Given the description of an element on the screen output the (x, y) to click on. 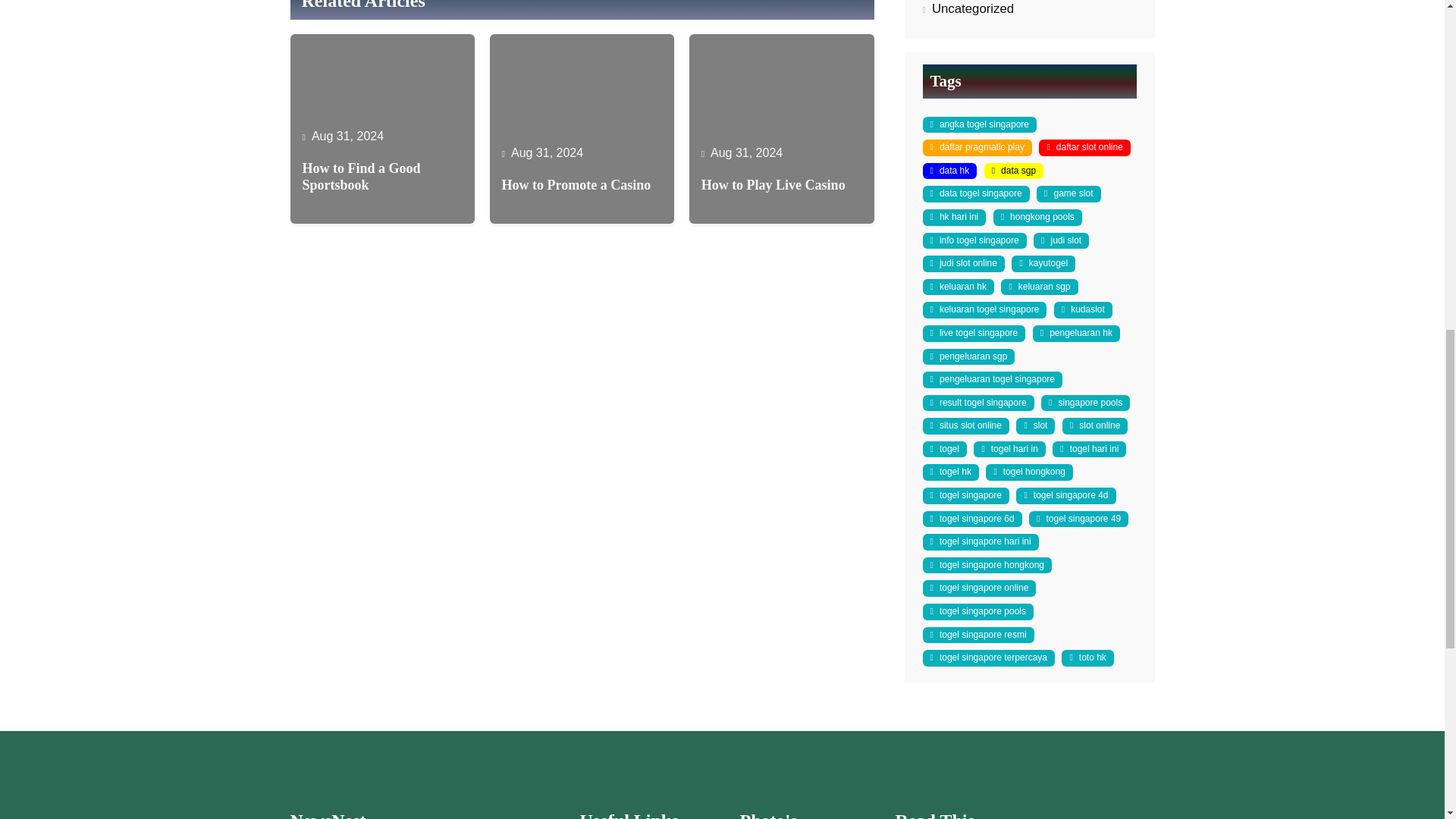
How to Find a Good Sportsbook (382, 176)
Aug 31, 2024 (547, 152)
daftar pragmatic play (975, 147)
How to Promote a Casino (576, 185)
How to Play Live Casino (773, 185)
Uncategorized (972, 8)
daftar slot online (1084, 147)
Aug 31, 2024 (347, 135)
data hk (948, 170)
angka togel singapore (978, 125)
